Given the description of an element on the screen output the (x, y) to click on. 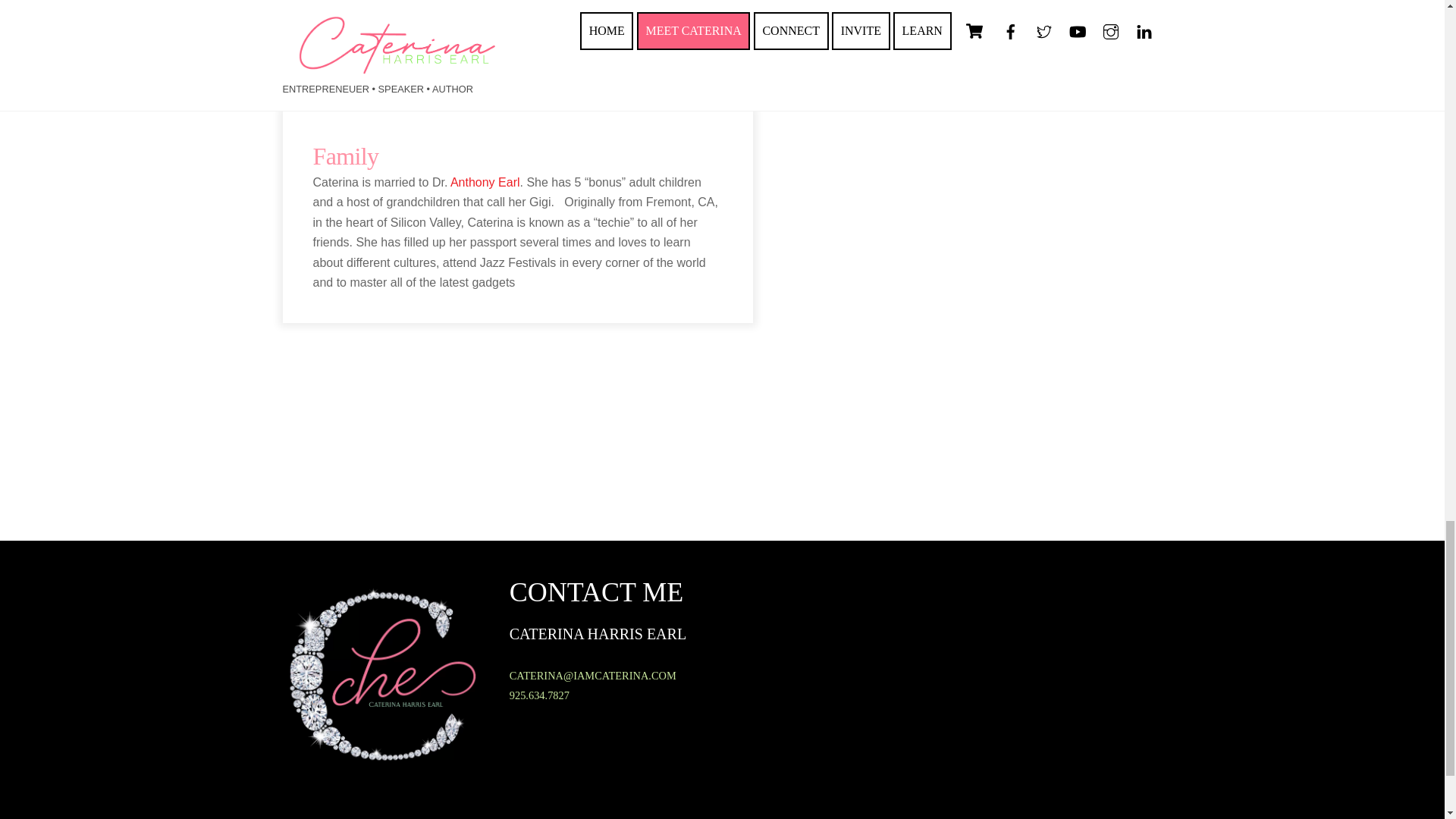
I Am Caterina (381, 764)
925.634.7827 (539, 695)
Anthony Earl (484, 182)
